Given the description of an element on the screen output the (x, y) to click on. 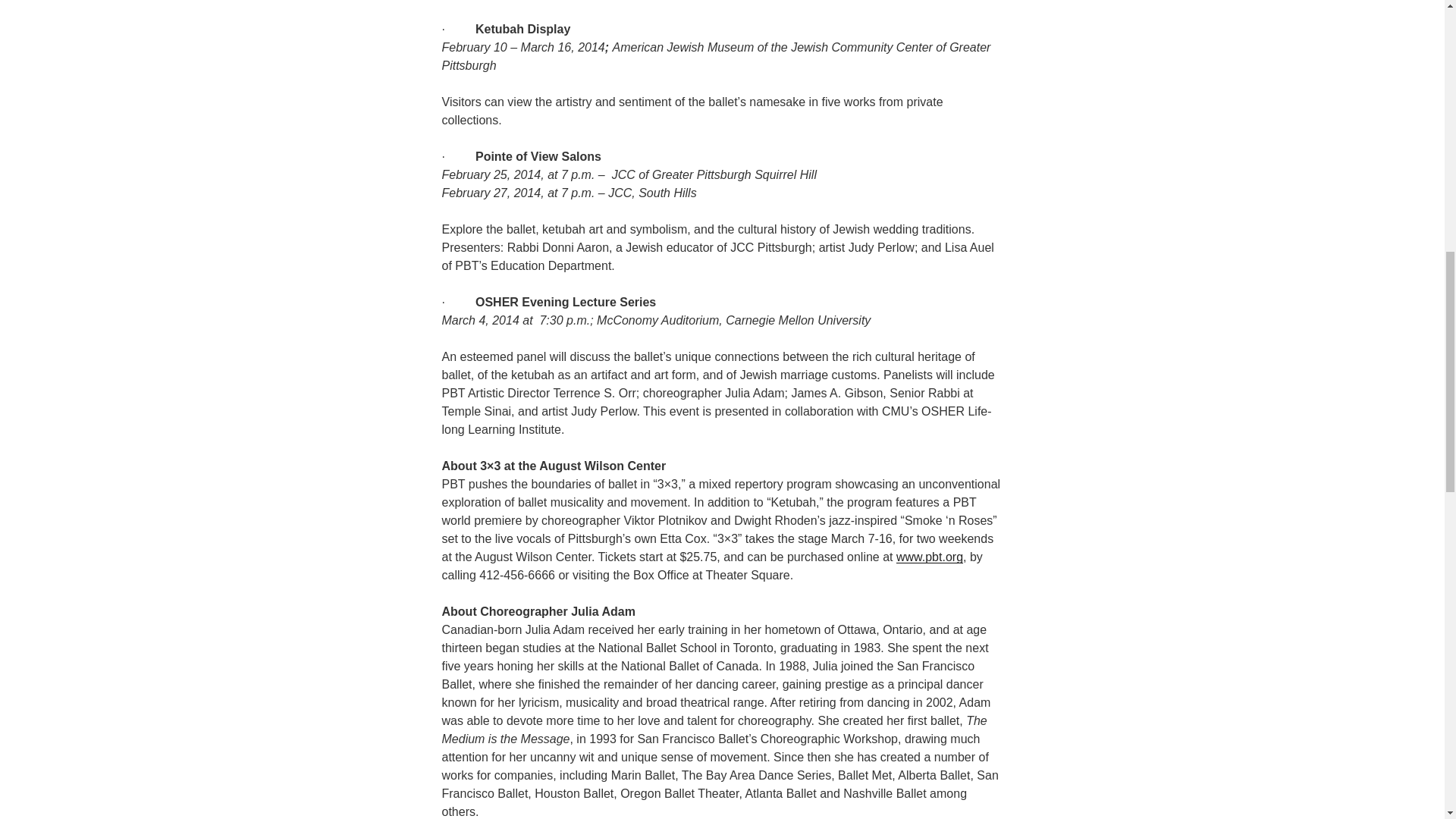
www.pbt.org (929, 556)
